Given the description of an element on the screen output the (x, y) to click on. 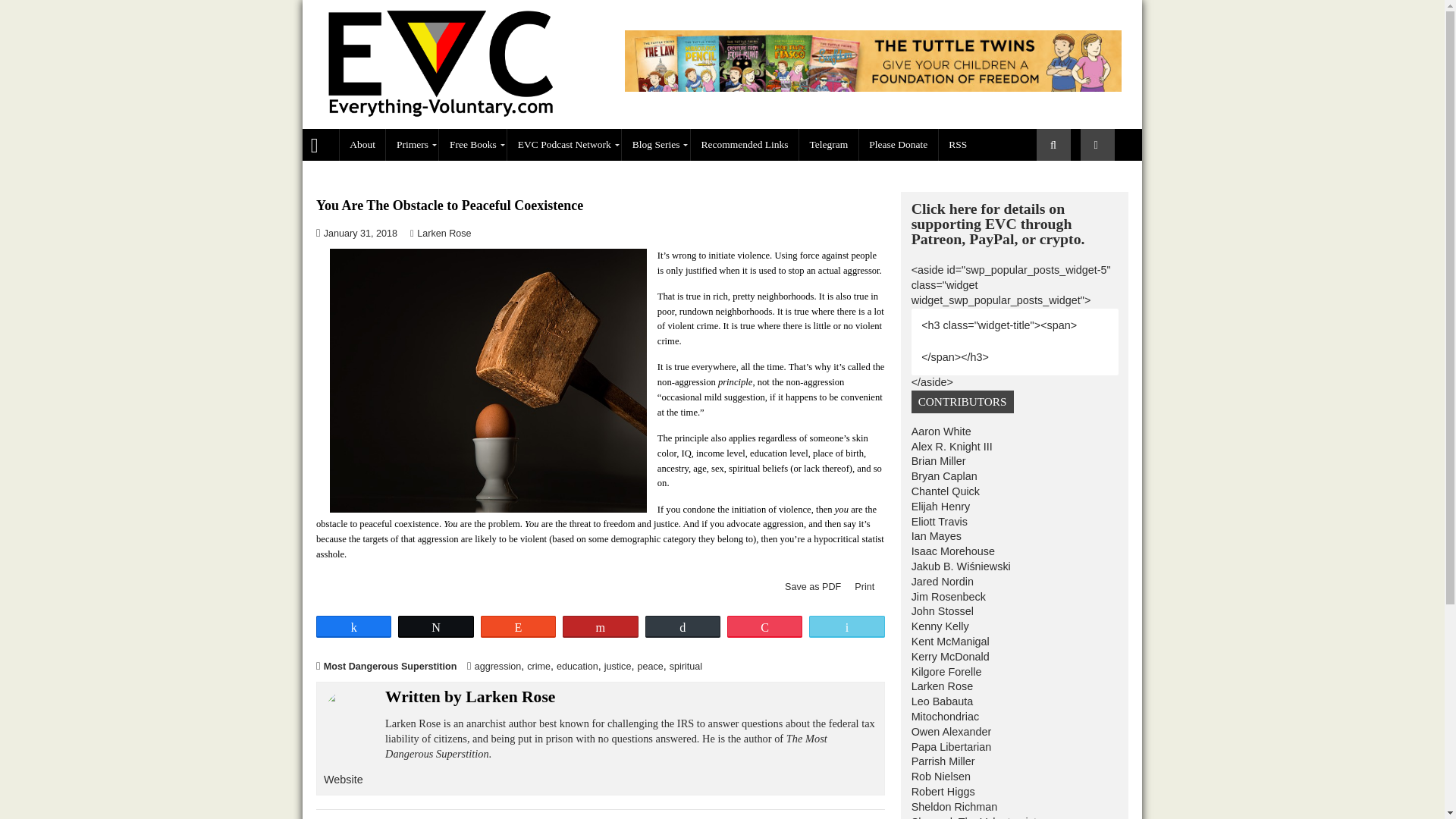
Business vs. Government: A Few Contrarian Thoughts (1219, 161)
Posts by Aaron White (1044, 479)
Everything-Voluntary.com (355, 159)
EVC Podcast Network (627, 161)
Posts by Elijah Henry (1044, 562)
Posts by Chantel Quick (1049, 545)
Posts by Alex R. Knight III (1056, 495)
Posts by Eliott Travis (1043, 579)
Posts by Jared Nordin (1046, 645)
Posts by Brian Miller (1042, 512)
